Given the description of an element on the screen output the (x, y) to click on. 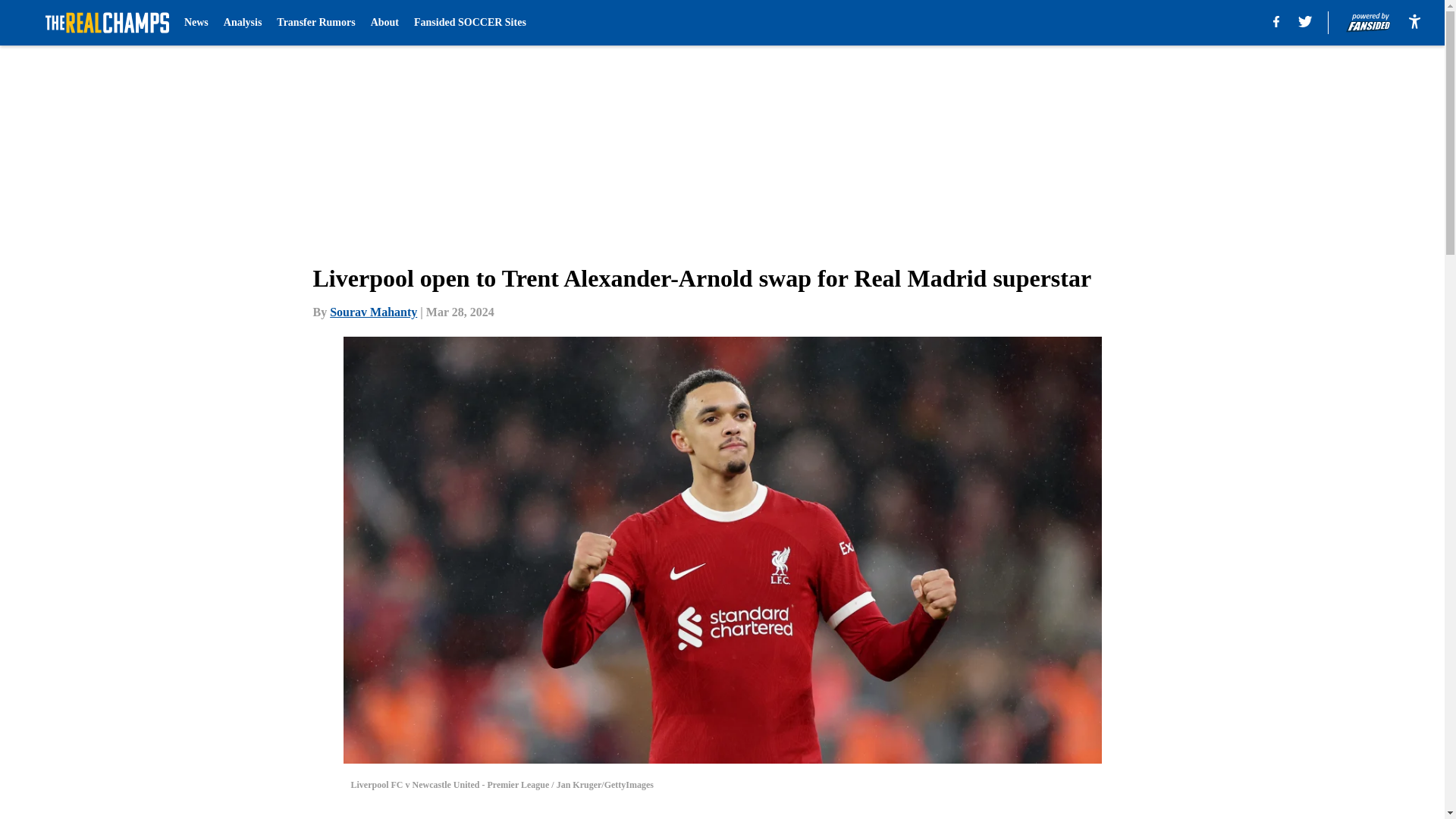
News (196, 22)
About (384, 22)
Transfer Rumors (315, 22)
Sourav Mahanty (373, 311)
Analysis (243, 22)
Fansided SOCCER Sites (469, 22)
